Given the description of an element on the screen output the (x, y) to click on. 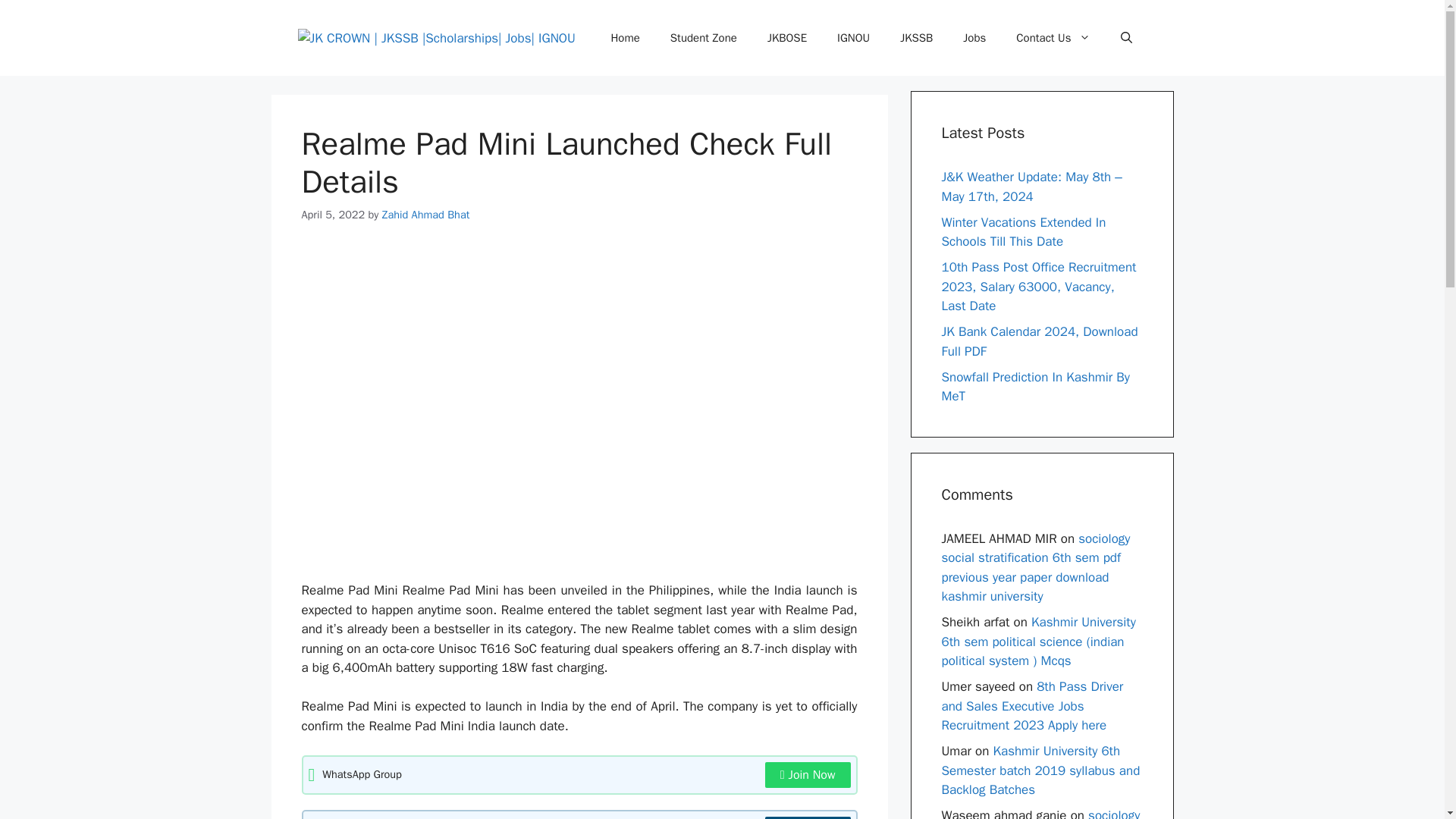
View all posts by Zahid Ahmad Bhat (425, 214)
Zahid Ahmad Bhat (425, 214)
IGNOU (853, 37)
Student Zone (703, 37)
JK Bank Calendar 2024, Download Full PDF (1040, 341)
Winter Vacations Extended In Schools Till This Date (1024, 231)
Join Now (807, 774)
Home (624, 37)
JKSSB (916, 37)
Join Now (807, 817)
